Given the description of an element on the screen output the (x, y) to click on. 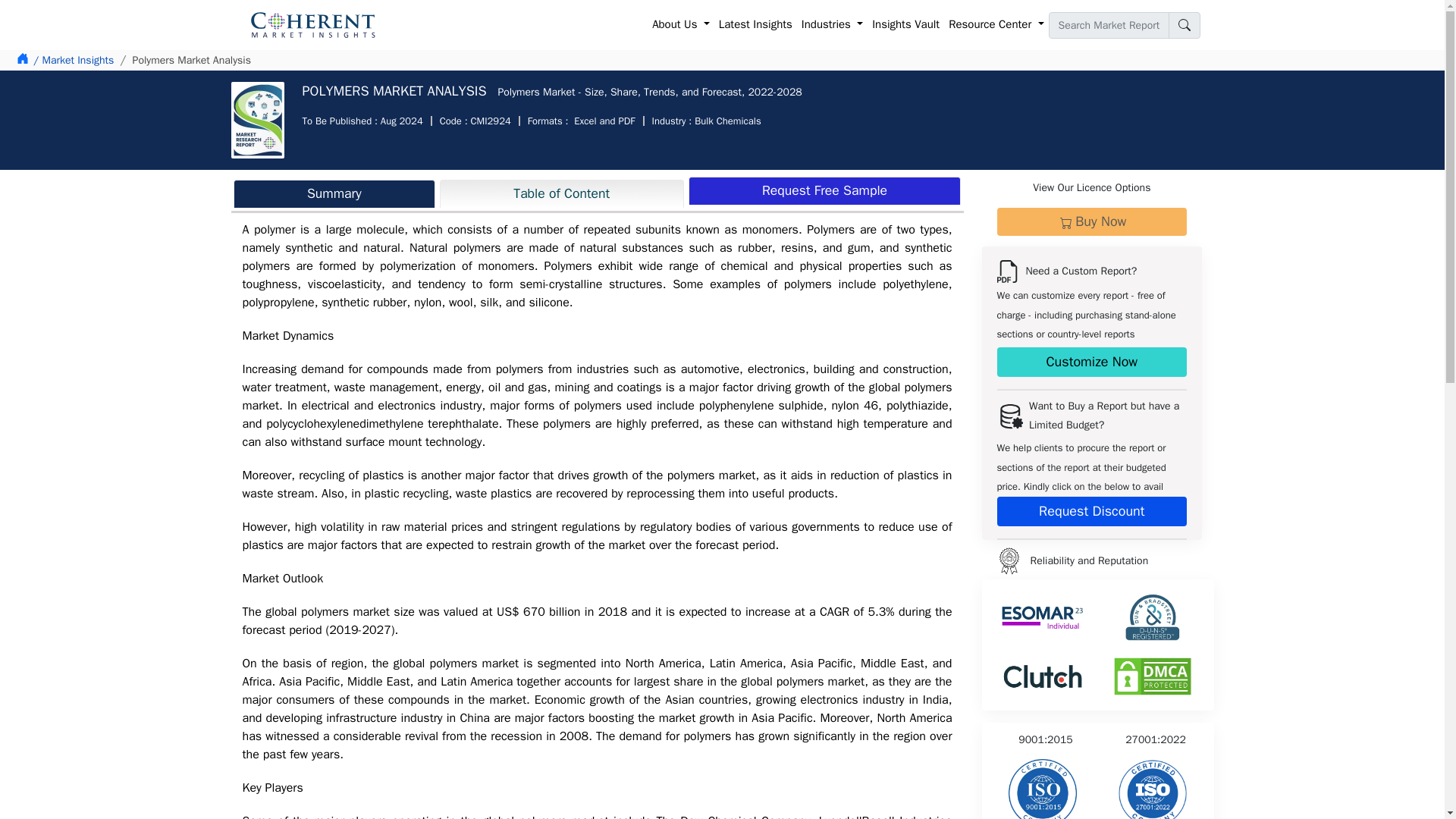
Latest Insights (755, 25)
Reliability and Reputation (1152, 789)
Industries (831, 25)
Reliability and Reputation (1043, 789)
search (1183, 25)
Market Insights (73, 60)
Resource Center (995, 25)
Insights Vault (905, 25)
Customize Now (1090, 361)
Clutch (1043, 676)
DMCA Protected (1152, 676)
Logo (1007, 561)
Request Discount (1090, 511)
Coherent Market Insights (312, 24)
DUNS Registered (1152, 617)
